Given the description of an element on the screen output the (x, y) to click on. 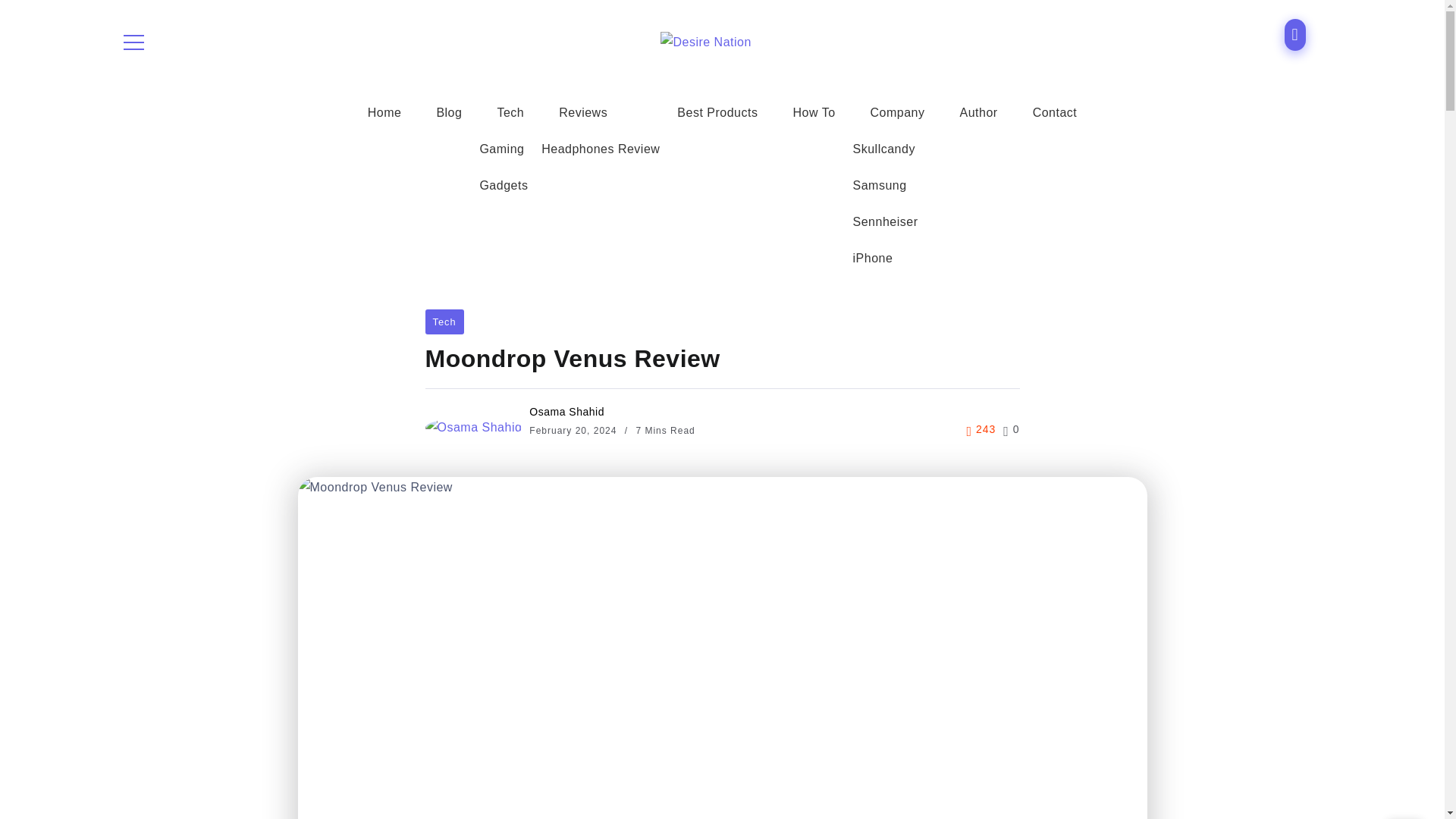
Blog (448, 112)
Home (384, 112)
Tech (509, 112)
Headphones Review (600, 149)
Gaming (501, 149)
Desire Nation (706, 41)
Reviews (583, 112)
Gadgets (503, 185)
